Given the description of an element on the screen output the (x, y) to click on. 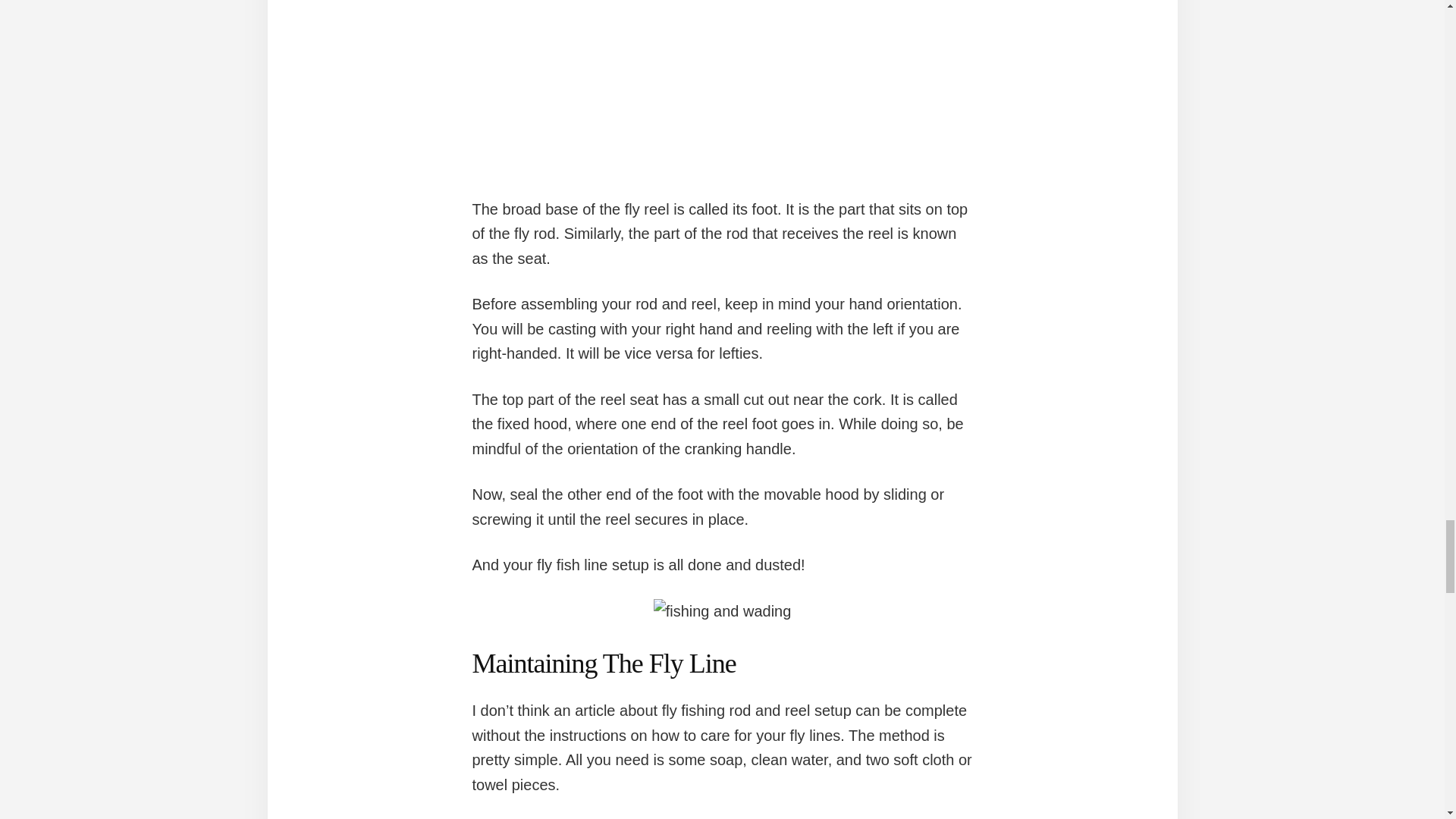
Mounting a Fly Reel on a Rod (721, 98)
